Given the description of an element on the screen output the (x, y) to click on. 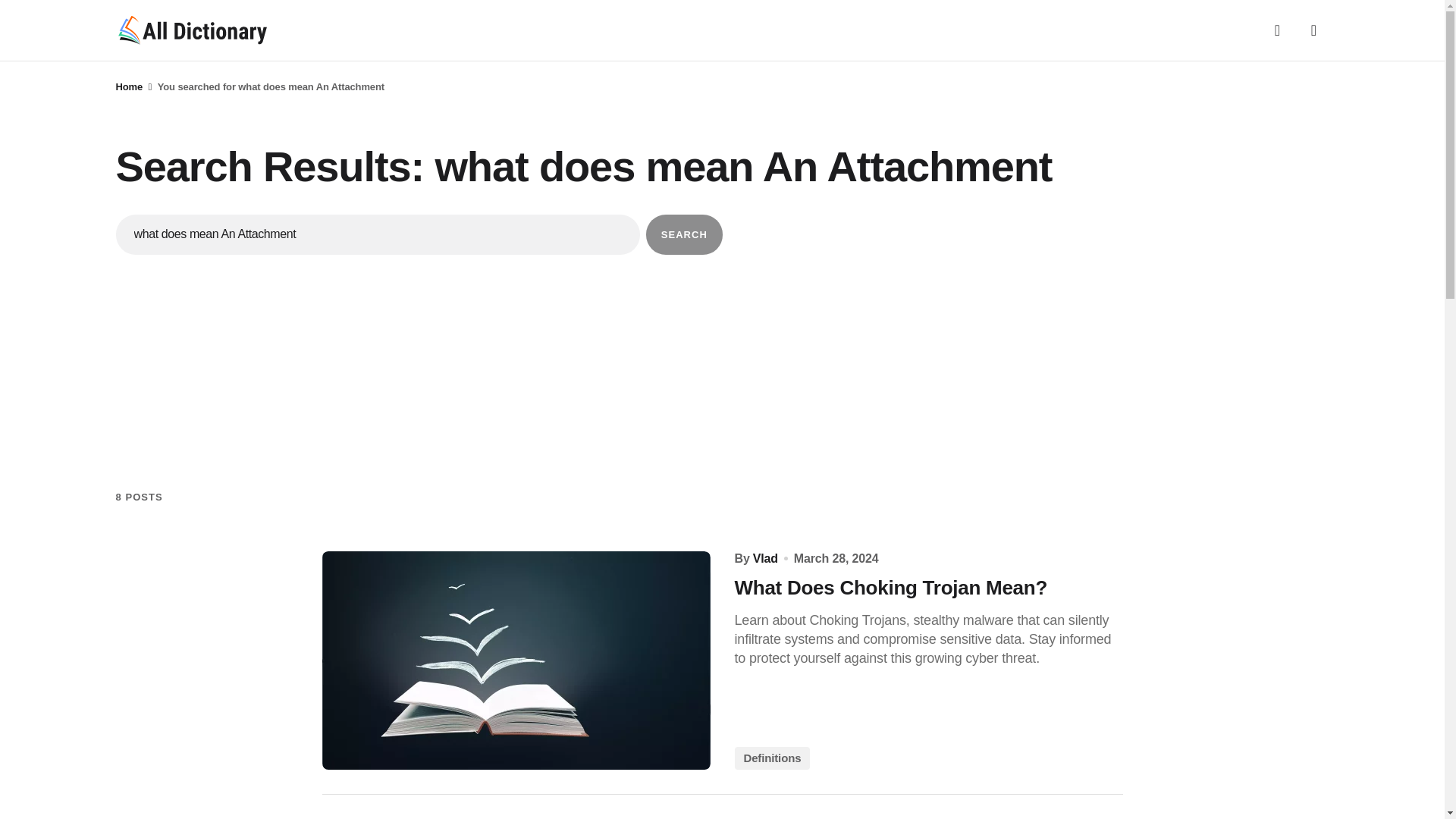
what does mean An Attachment (377, 233)
Home (128, 86)
SEARCH (684, 233)
What Does Choking Trojan Mean? (927, 587)
Definitions (771, 757)
Vlad (764, 558)
What Does Choking Trojan Mean? (515, 660)
what does mean An Attachment (377, 233)
